Given the description of an element on the screen output the (x, y) to click on. 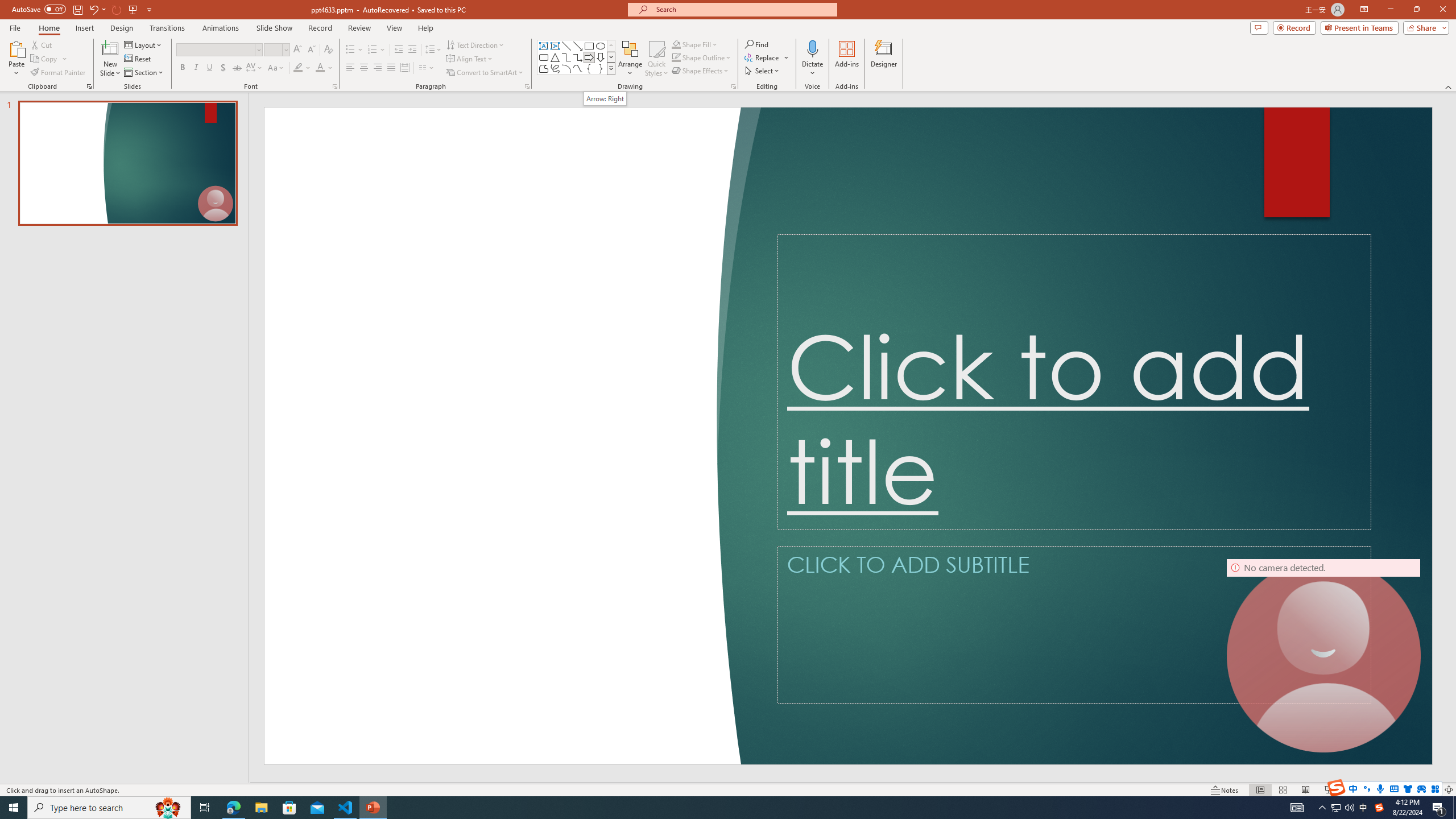
Arrow: Right (589, 57)
Line (566, 45)
